Given the description of an element on the screen output the (x, y) to click on. 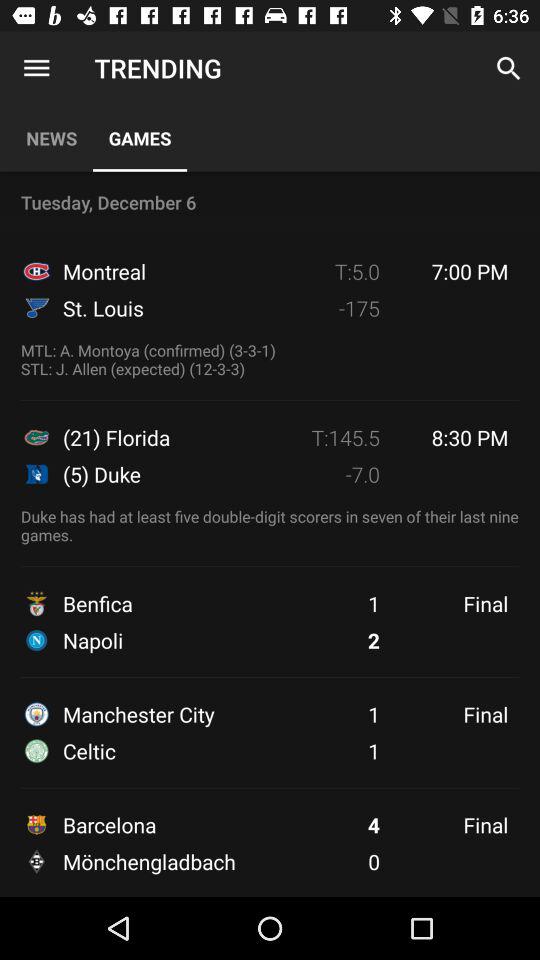
launch app above the news app (36, 68)
